Given the description of an element on the screen output the (x, y) to click on. 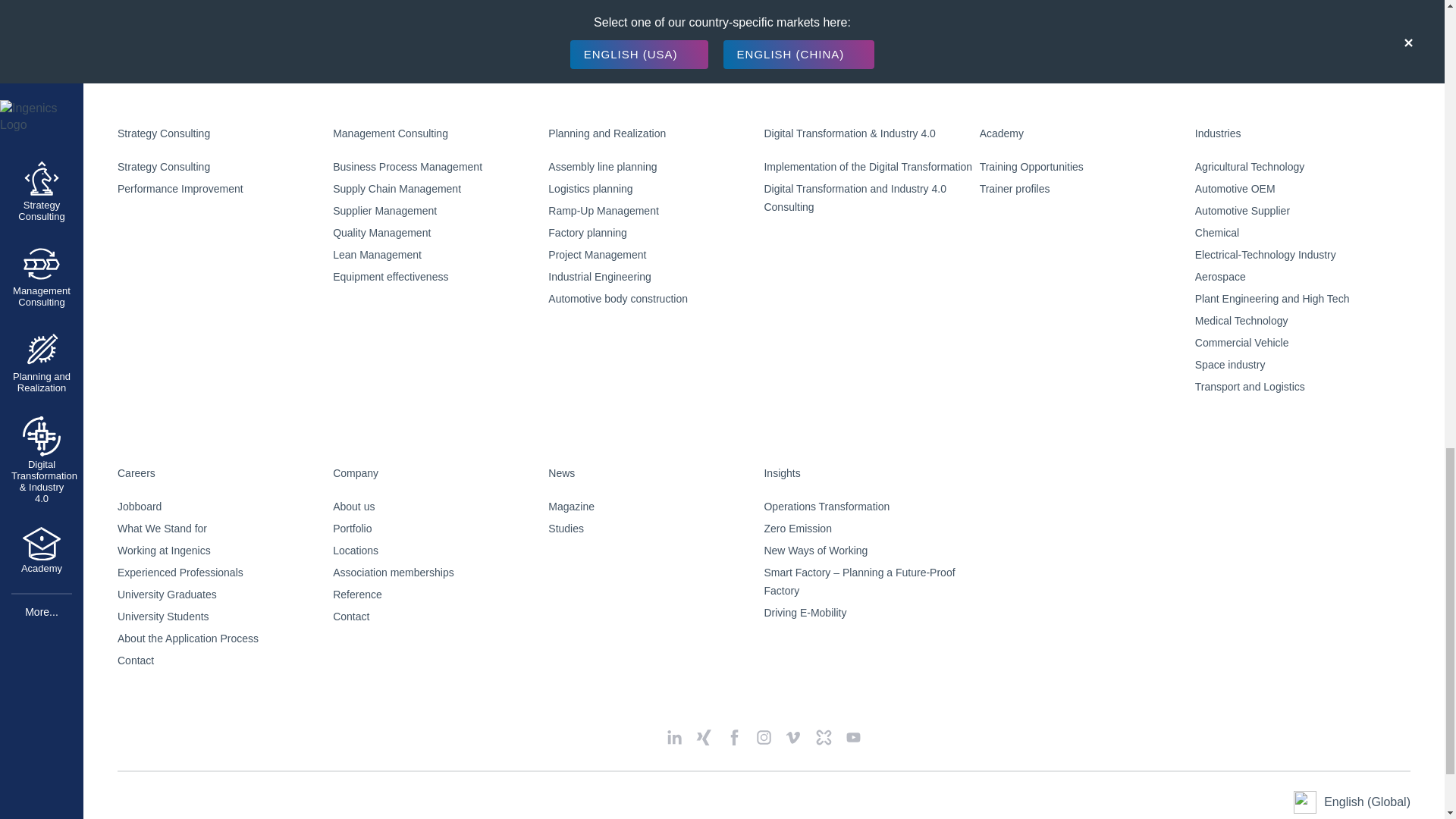
Instagram (763, 737)
Facebook (734, 737)
Vimeo (793, 737)
LinkedIn (674, 737)
Kununu (822, 737)
Xing (703, 737)
Youtube (853, 737)
